Given the description of an element on the screen output the (x, y) to click on. 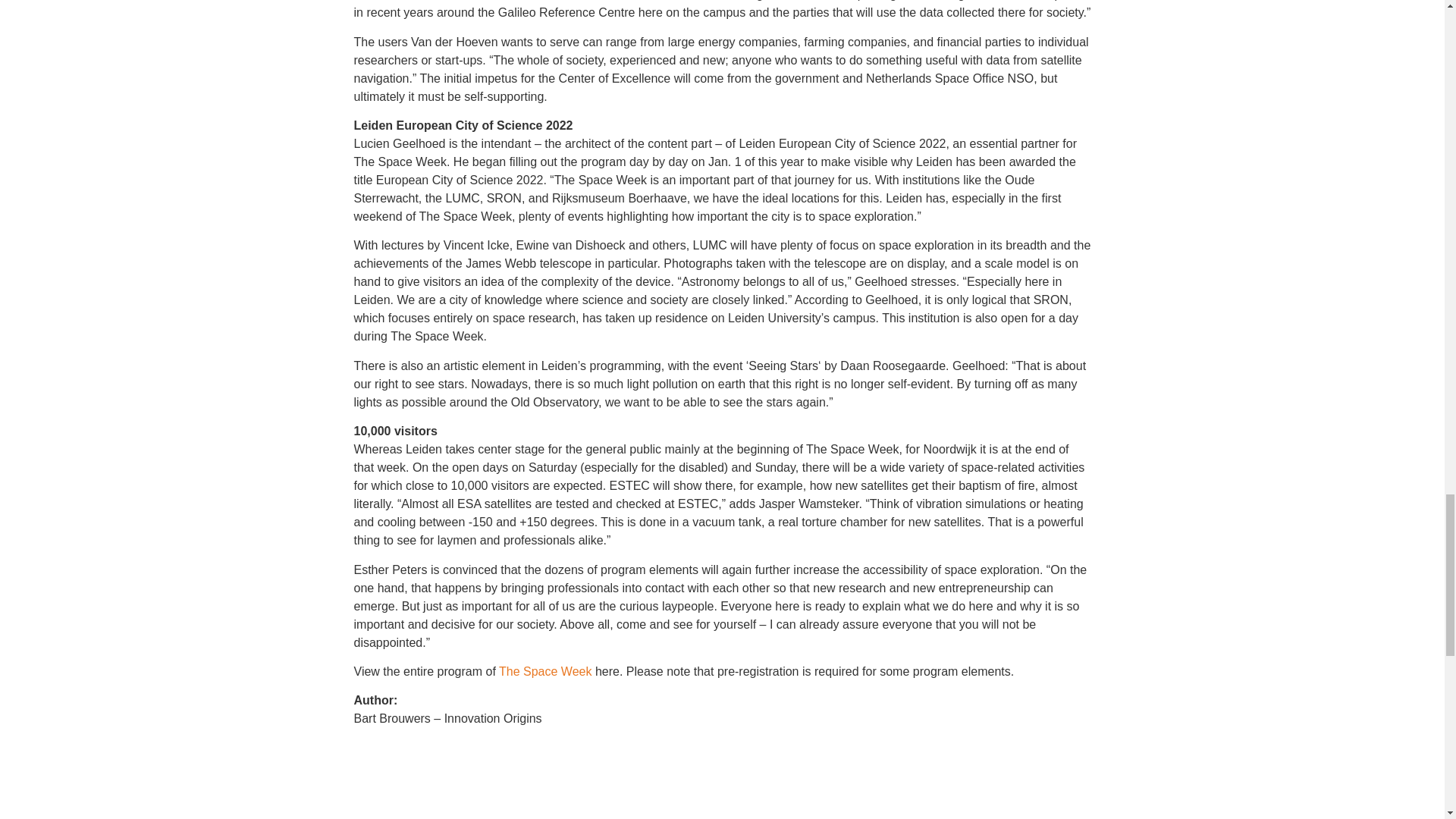
The Space Week (545, 671)
